Given the description of an element on the screen output the (x, y) to click on. 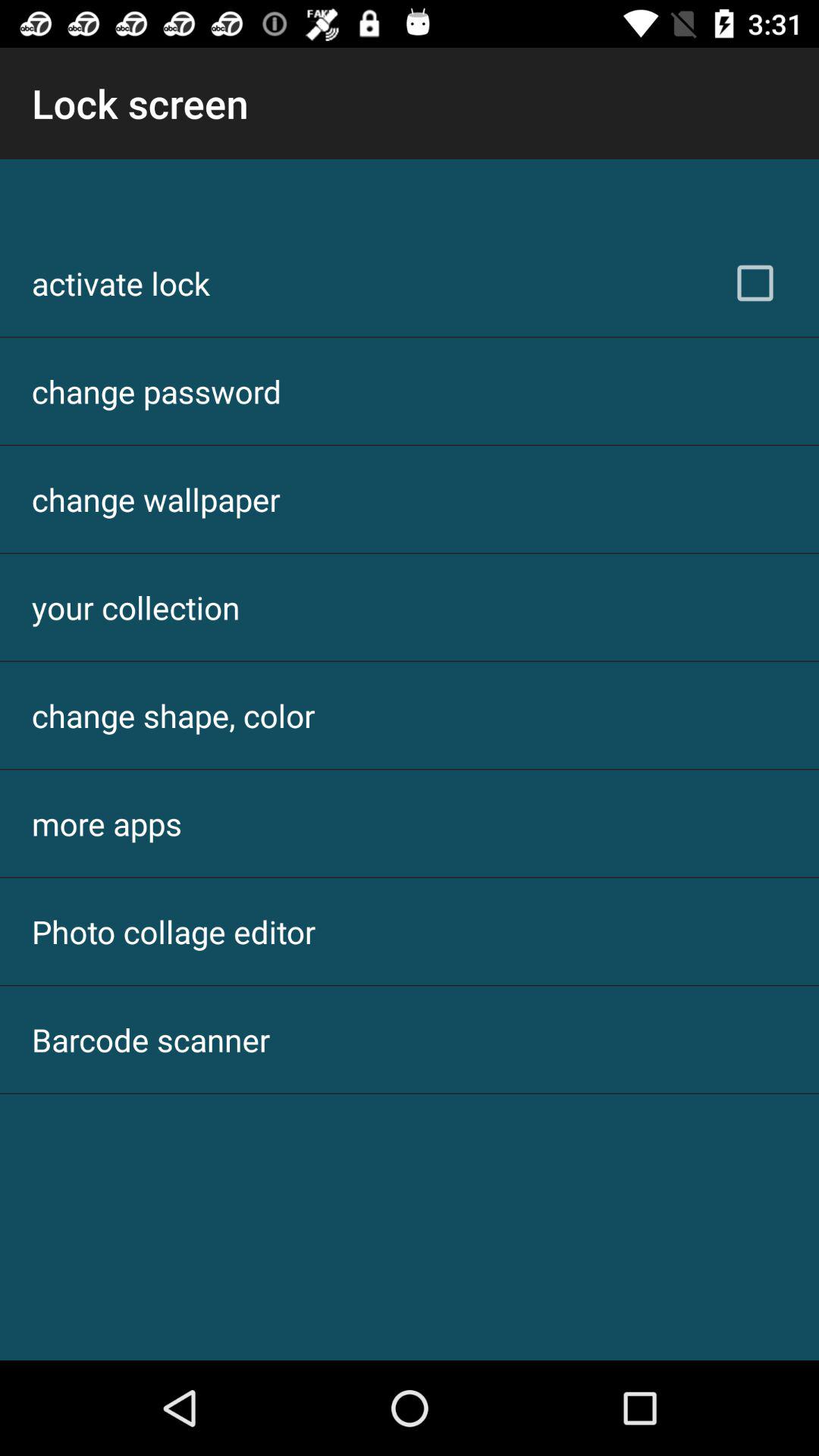
turn on the app above the change password item (120, 282)
